Given the description of an element on the screen output the (x, y) to click on. 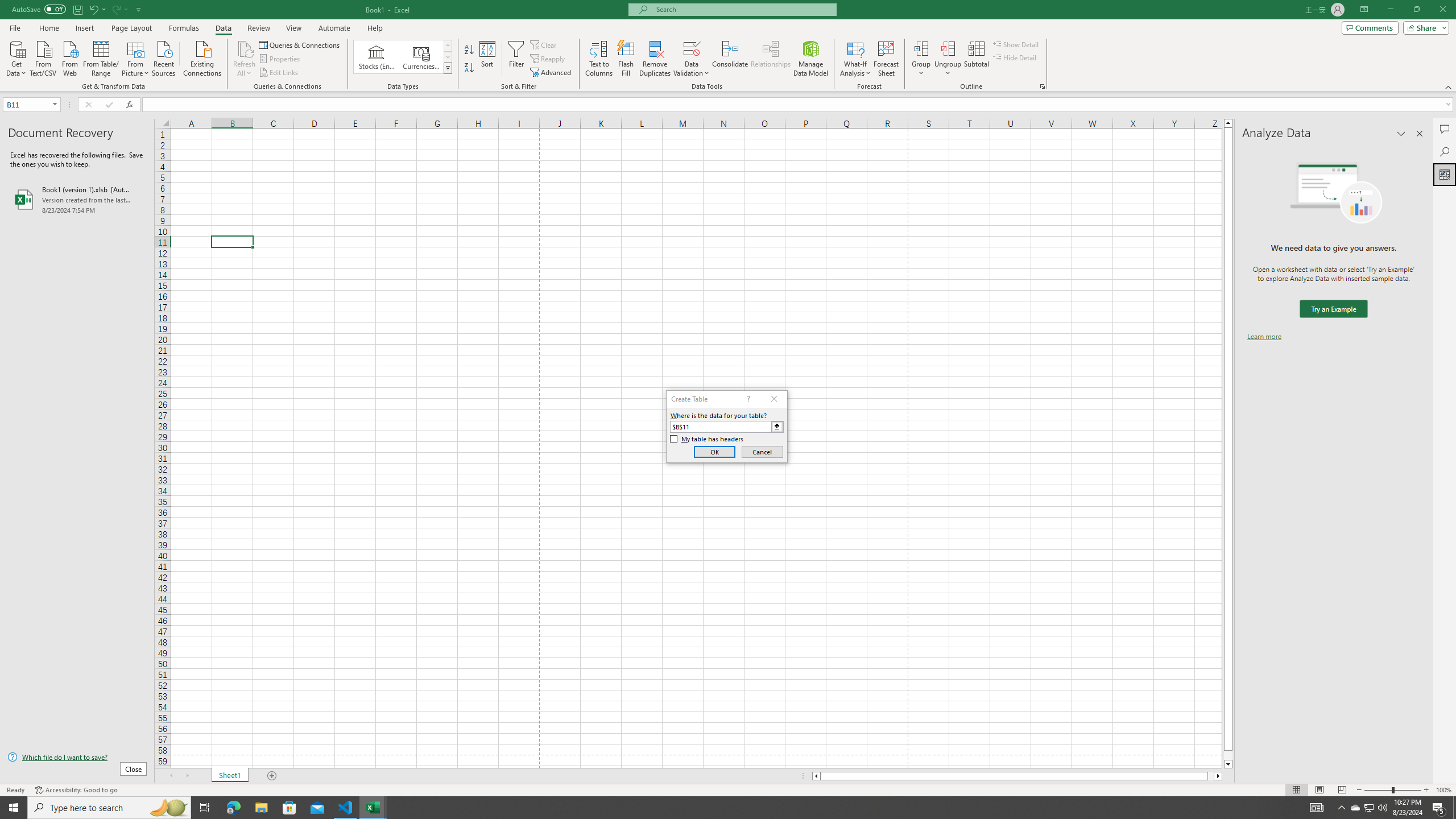
Automate (334, 28)
Ungroup... (947, 58)
Row up (448, 45)
Sort A to Z (469, 49)
Zoom Out (1377, 790)
Properties (280, 58)
Zoom (1392, 790)
View (293, 28)
Manage Data Model (810, 58)
Microsoft search (742, 9)
Collapse the Ribbon (1448, 86)
Data Validation... (691, 48)
Column left (815, 775)
Line up (1228, 122)
